Given the description of an element on the screen output the (x, y) to click on. 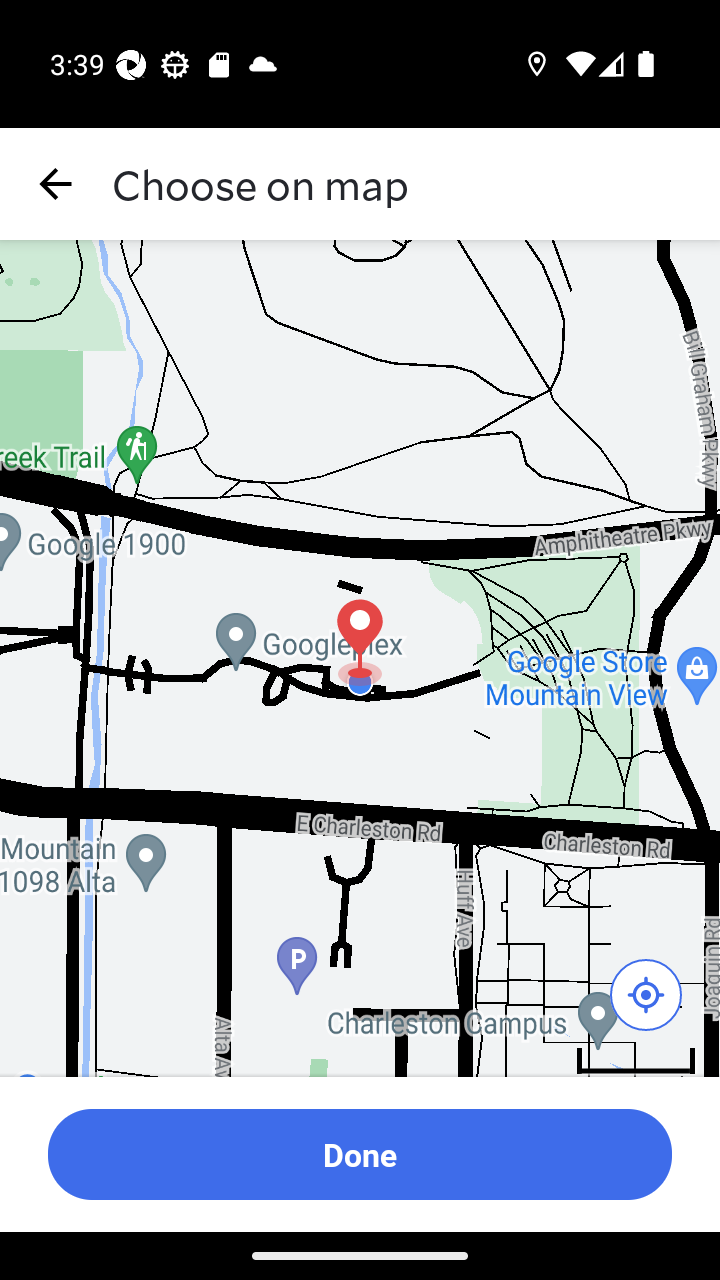
navigation_button (56, 184)
Done (359, 1154)
